Given the description of an element on the screen output the (x, y) to click on. 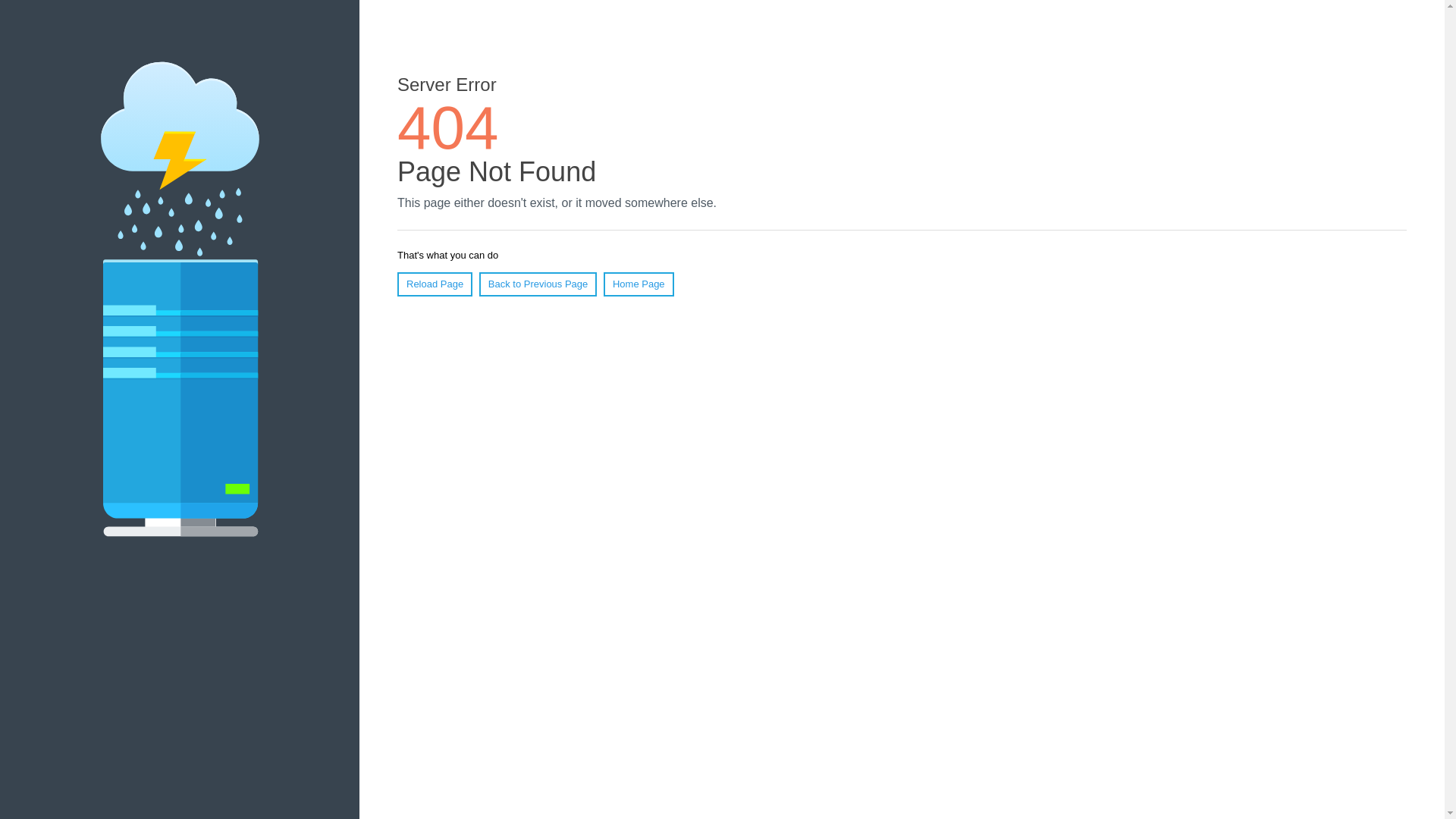
Home Page Element type: text (638, 284)
Reload Page Element type: text (434, 284)
Back to Previous Page Element type: text (538, 284)
